Given the description of an element on the screen output the (x, y) to click on. 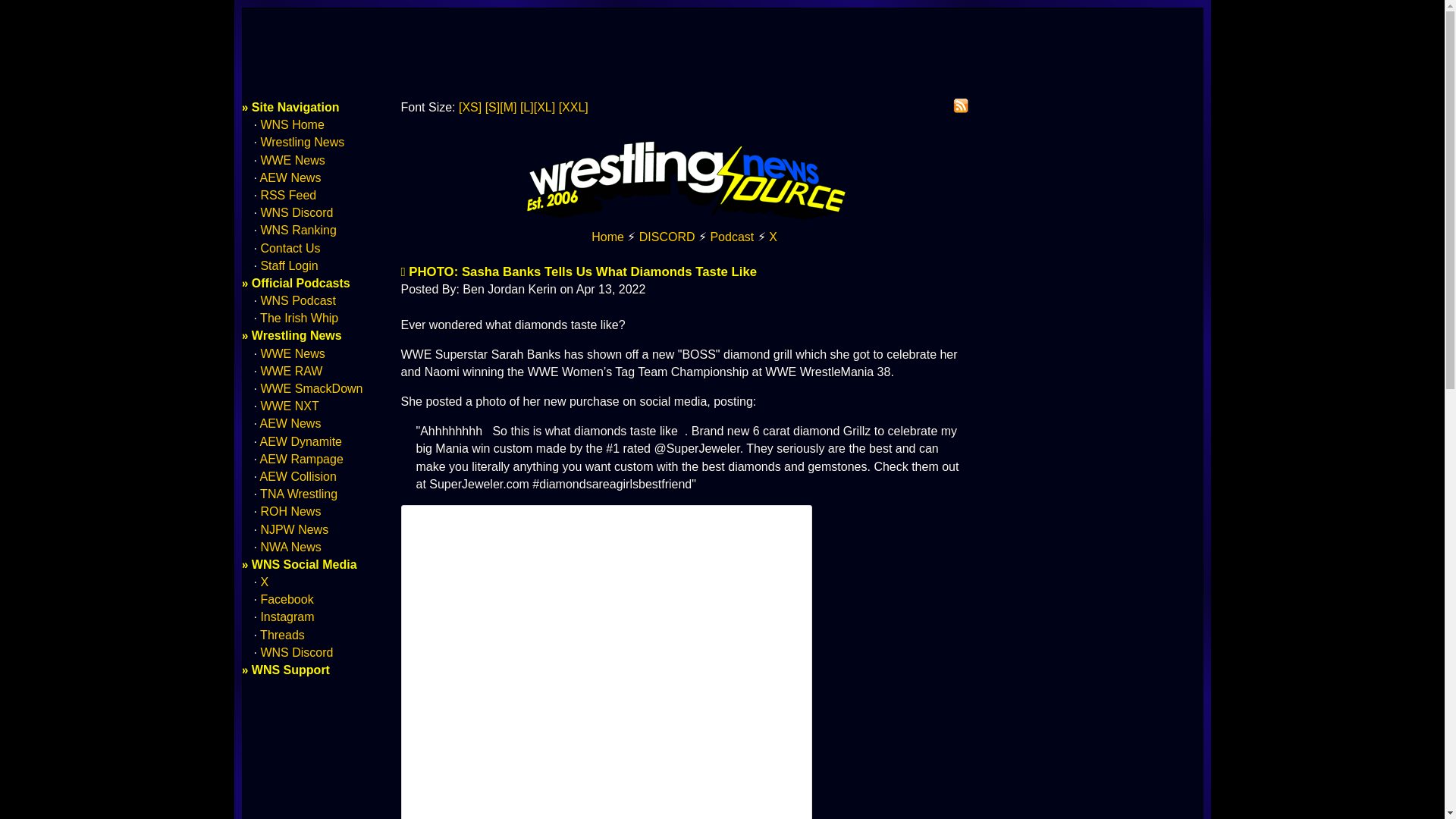
Wrestling News (301, 141)
Contact Us (290, 246)
WNS Home (607, 236)
Staff Login (288, 265)
NJPW News (294, 529)
WNS Podcast (298, 300)
AEW Rampage (301, 459)
The Irish Whip (298, 318)
Facebook (286, 599)
NWA News (290, 546)
